Given the description of an element on the screen output the (x, y) to click on. 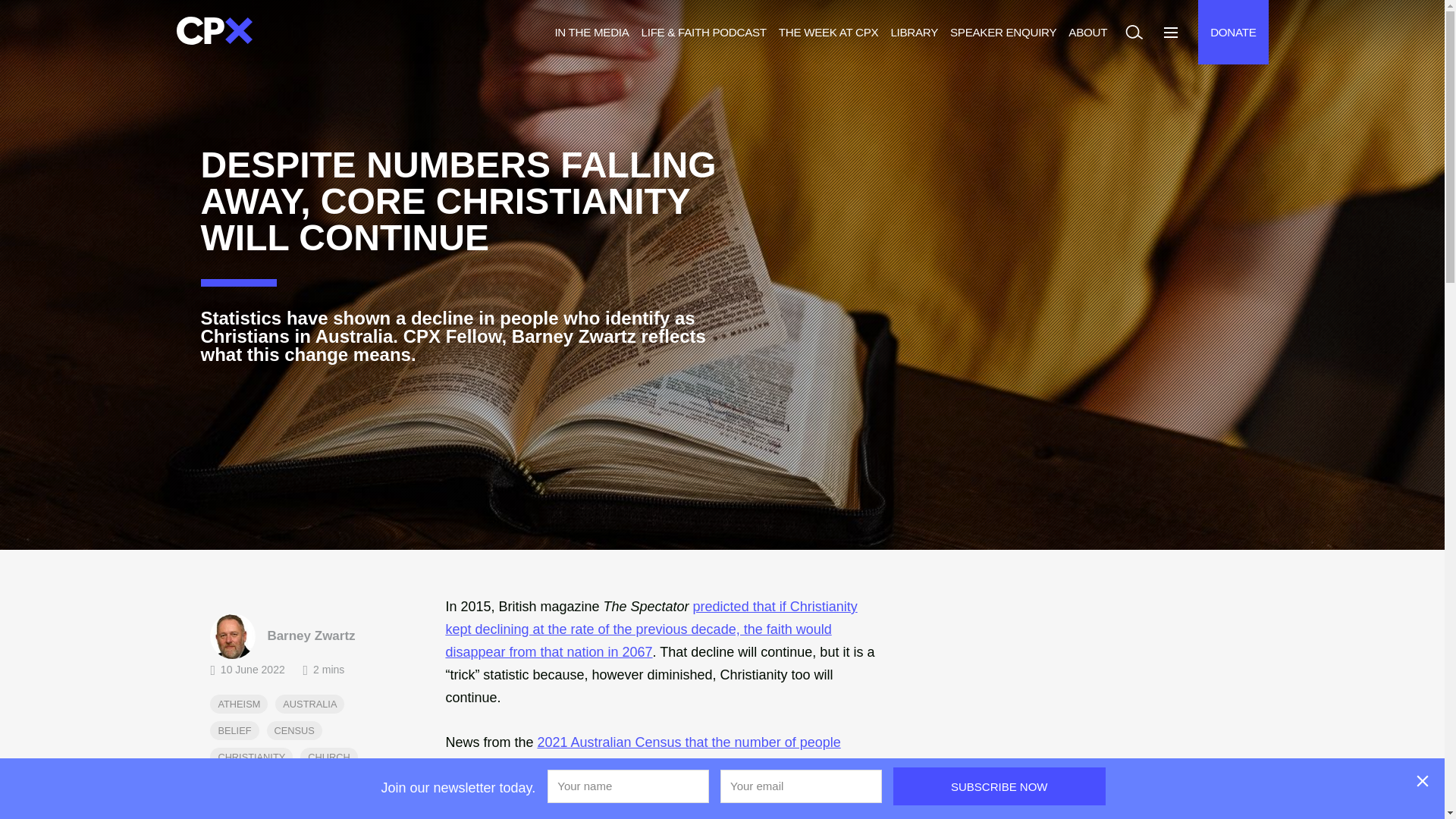
SPEAKER ENQUIRY (1003, 32)
THE WEEK AT CPX (828, 32)
DONATE (1233, 32)
Return to the Homepage (213, 32)
IN THE MEDIA (591, 32)
